Given the description of an element on the screen output the (x, y) to click on. 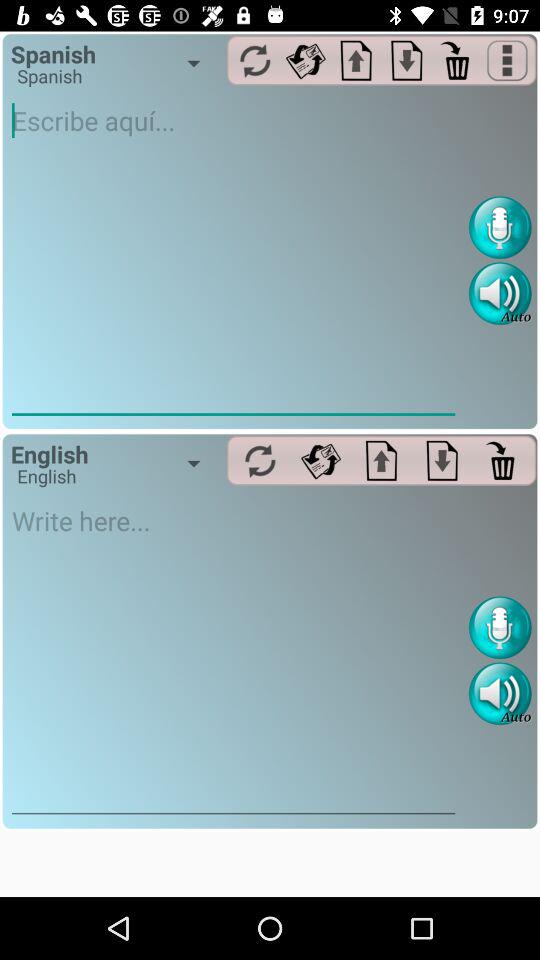
use the micro (499, 227)
